Given the description of an element on the screen output the (x, y) to click on. 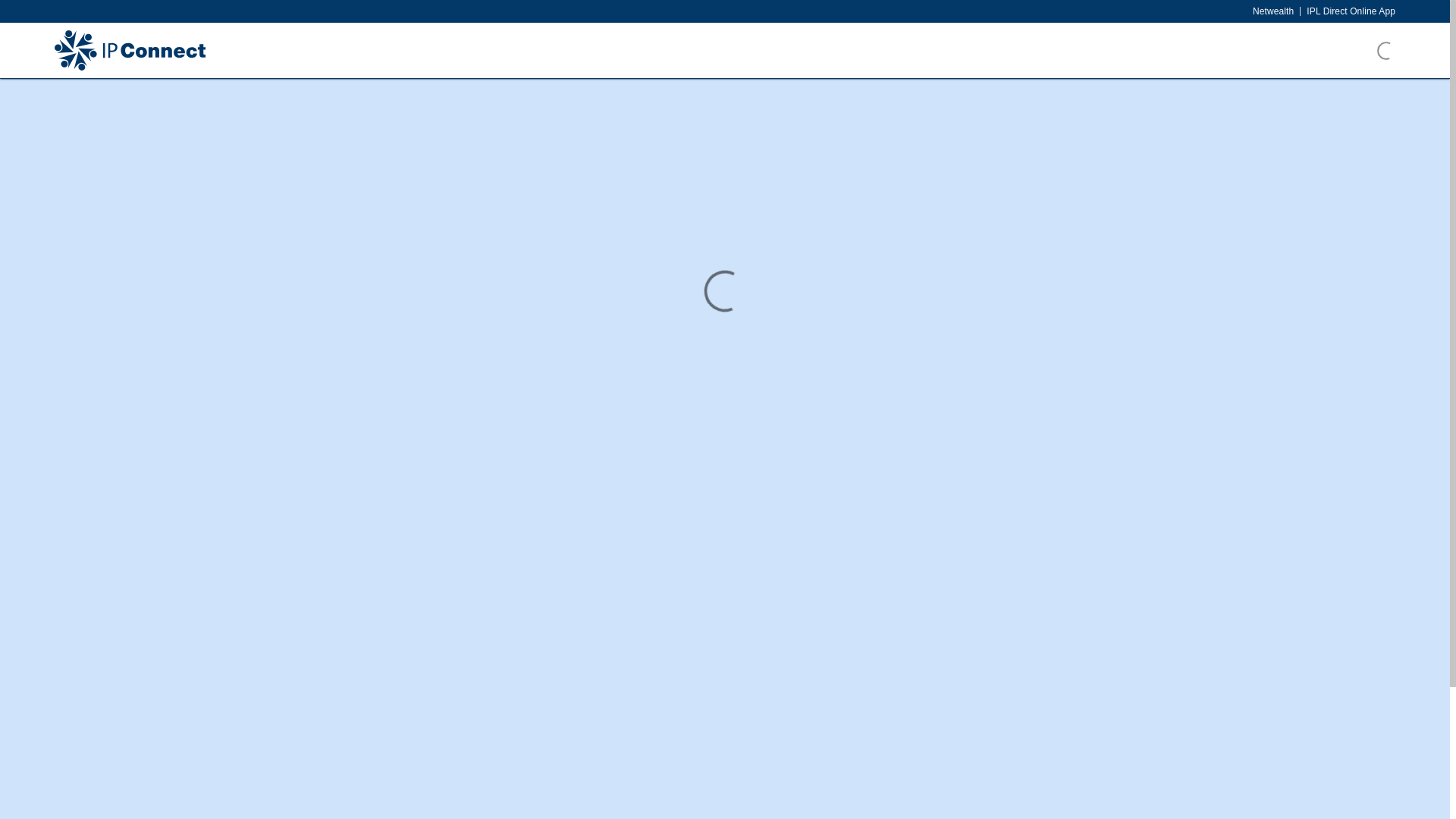
Netwealth Element type: text (1272, 11)
IPL Direct Online App Element type: text (1350, 11)
